Given the description of an element on the screen output the (x, y) to click on. 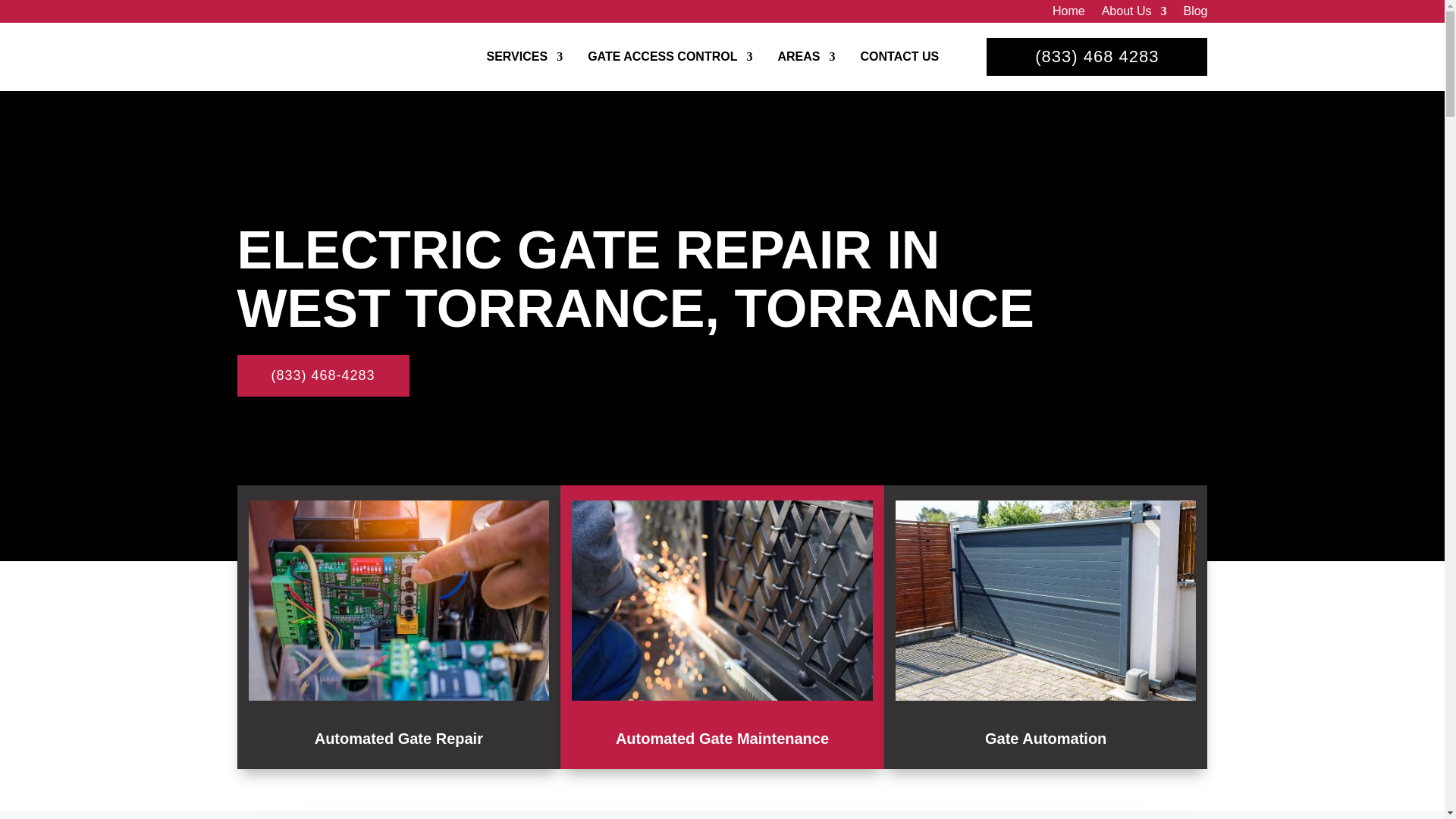
SERVICES (524, 56)
About Us (1134, 13)
GATE ACCESS CONTROL (670, 56)
Blog (1194, 13)
AREAS (805, 56)
Home (1068, 13)
